Given the description of an element on the screen output the (x, y) to click on. 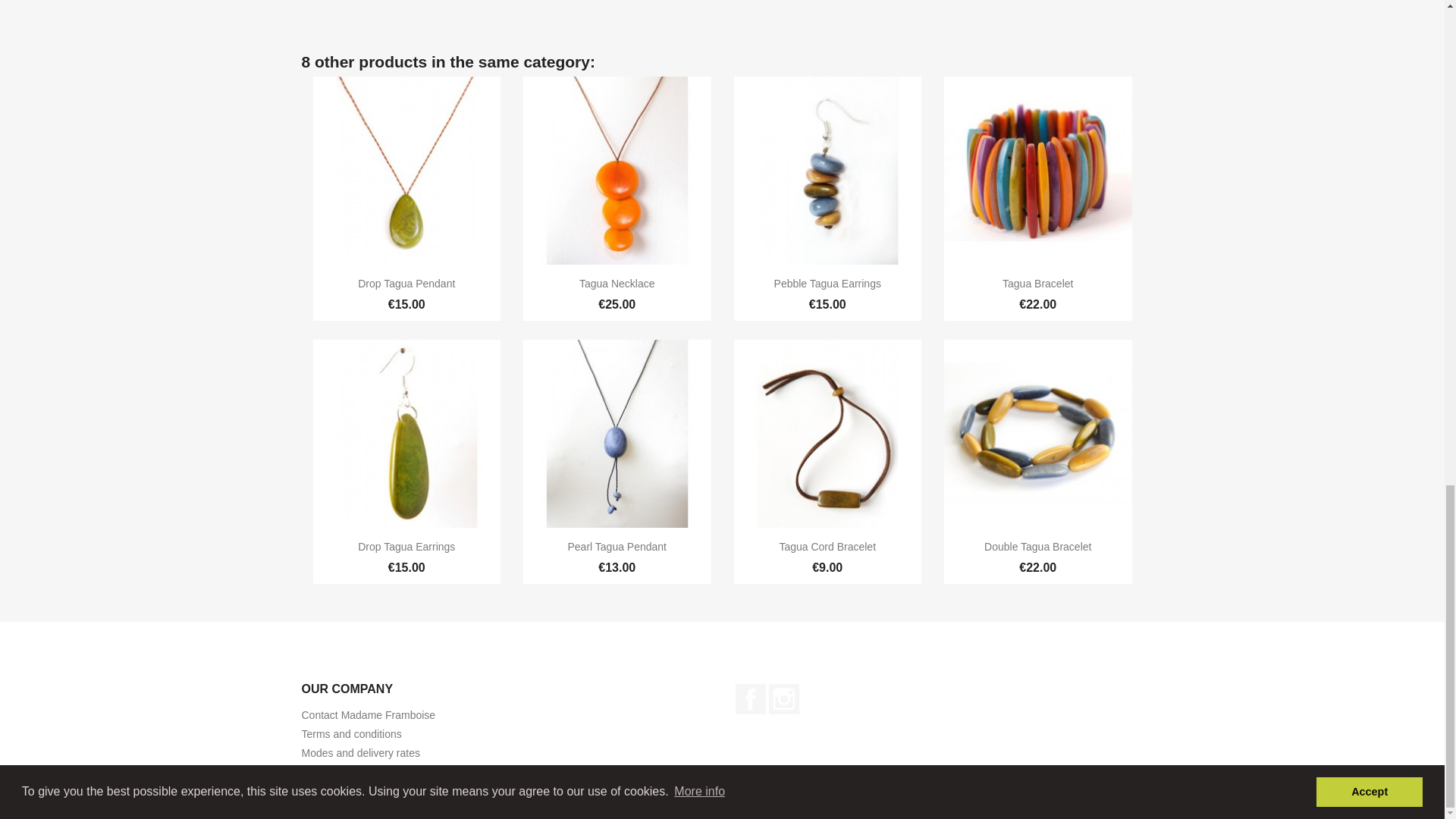
Modes and delivery rates (360, 752)
Madame Framboise contact details (368, 715)
Lost ? Find what your are looking for (320, 771)
